Given the description of an element on the screen output the (x, y) to click on. 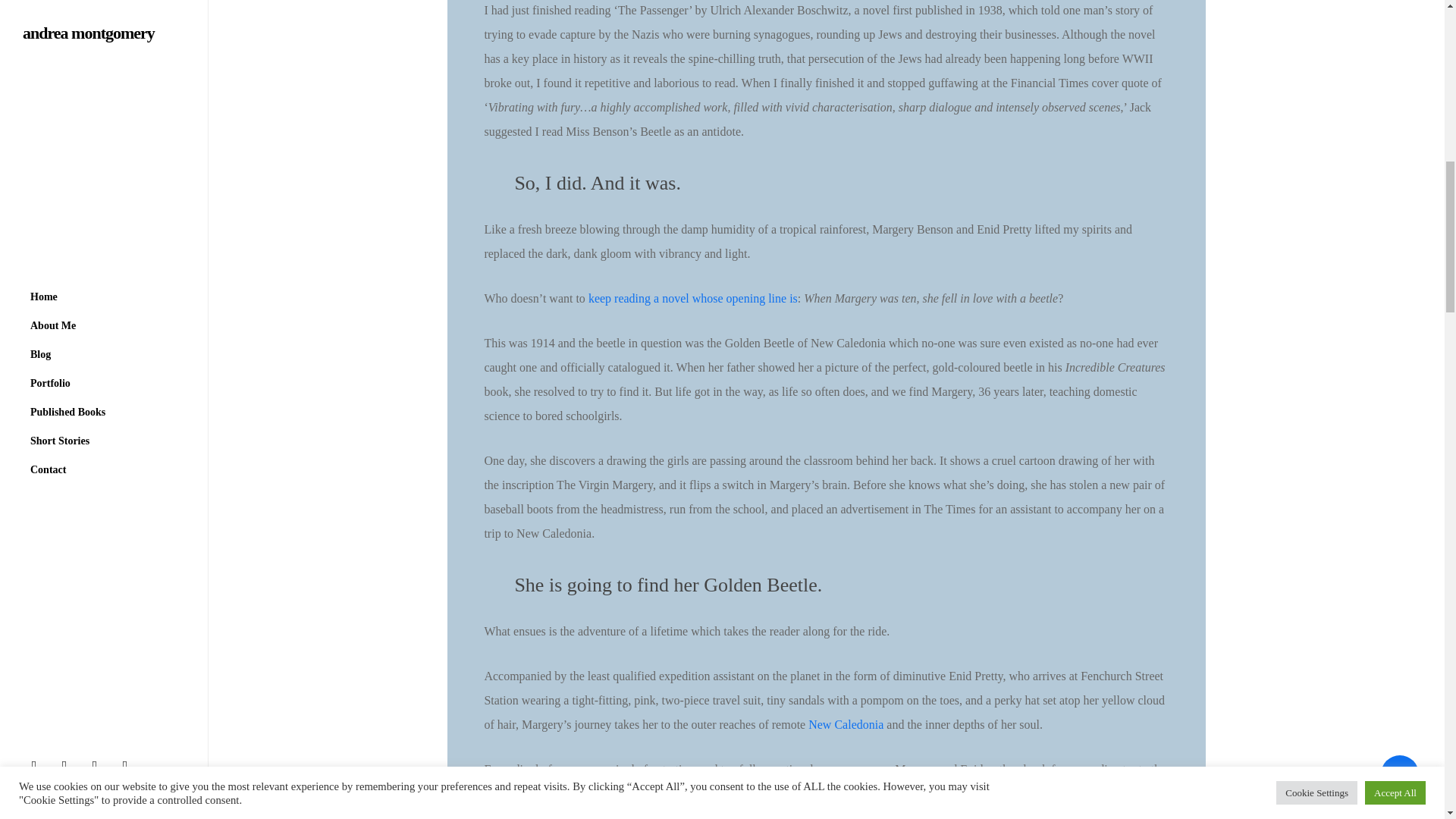
New Caledonia (845, 724)
keep reading a novel whose opening line is (692, 297)
